Given the description of an element on the screen output the (x, y) to click on. 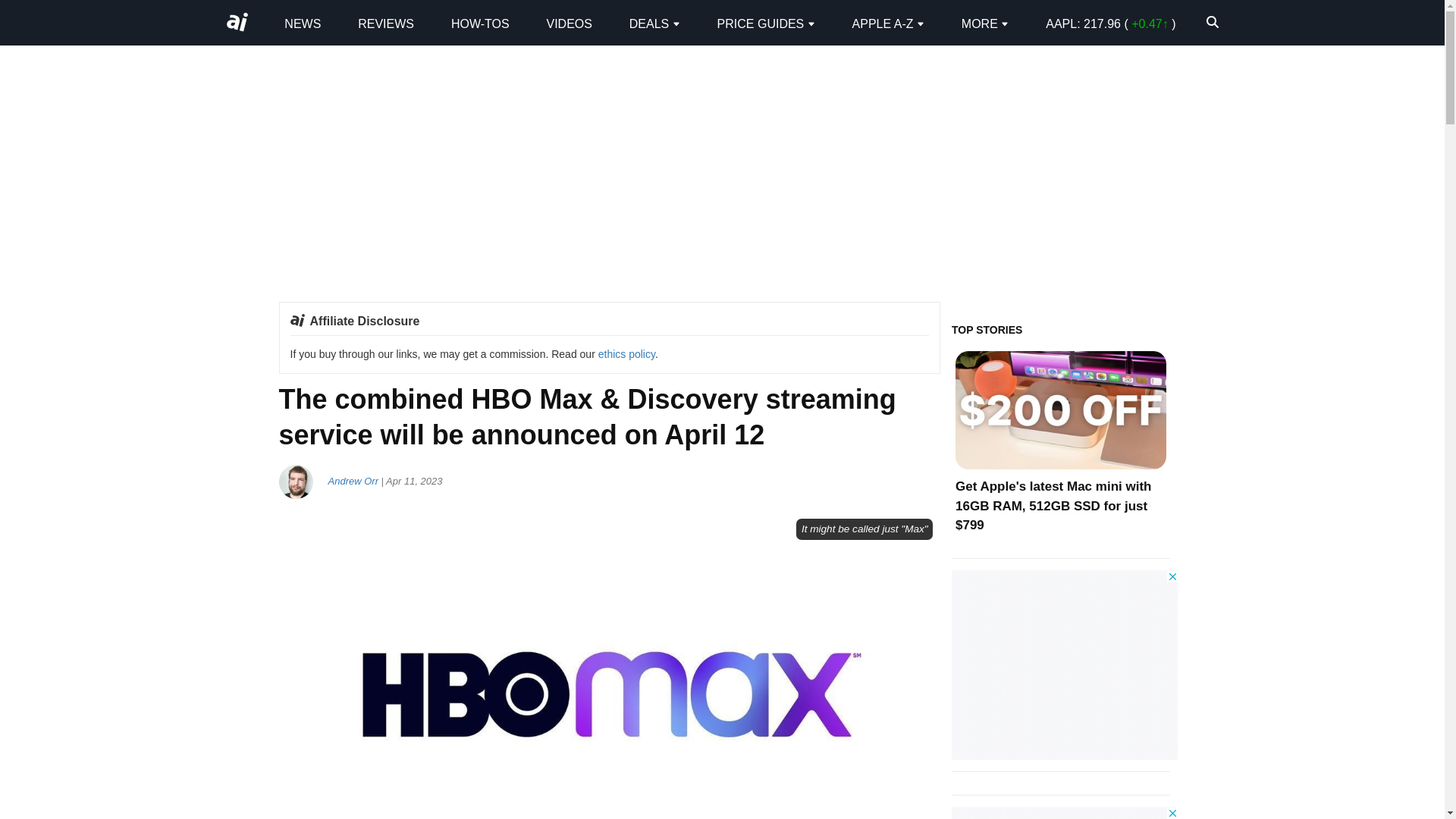
VIDEOS (568, 23)
How-Tos (480, 23)
Reviews (385, 23)
HOW-TOS (480, 23)
Videos (568, 23)
NEWS (301, 23)
News (301, 23)
REVIEWS (385, 23)
